Given the description of an element on the screen output the (x, y) to click on. 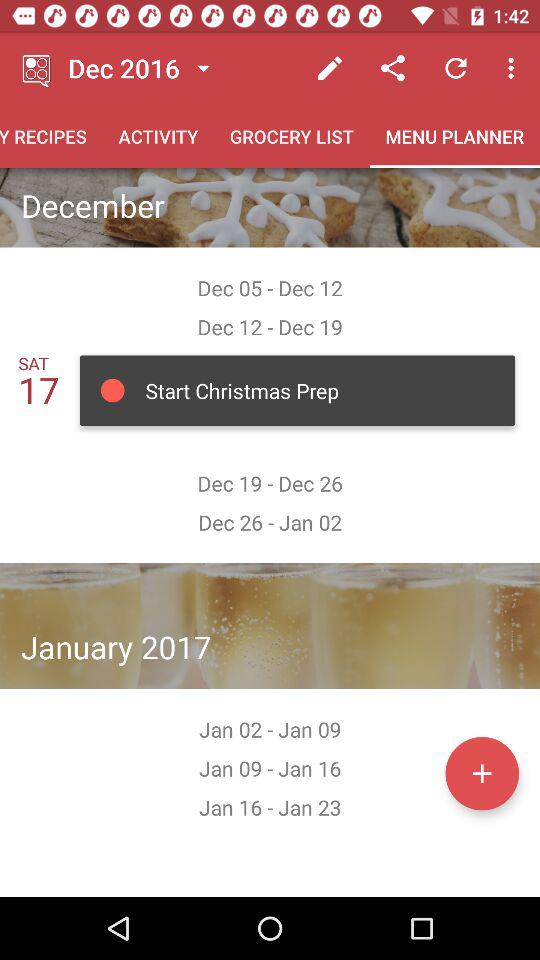
add in the option (482, 773)
